Given the description of an element on the screen output the (x, y) to click on. 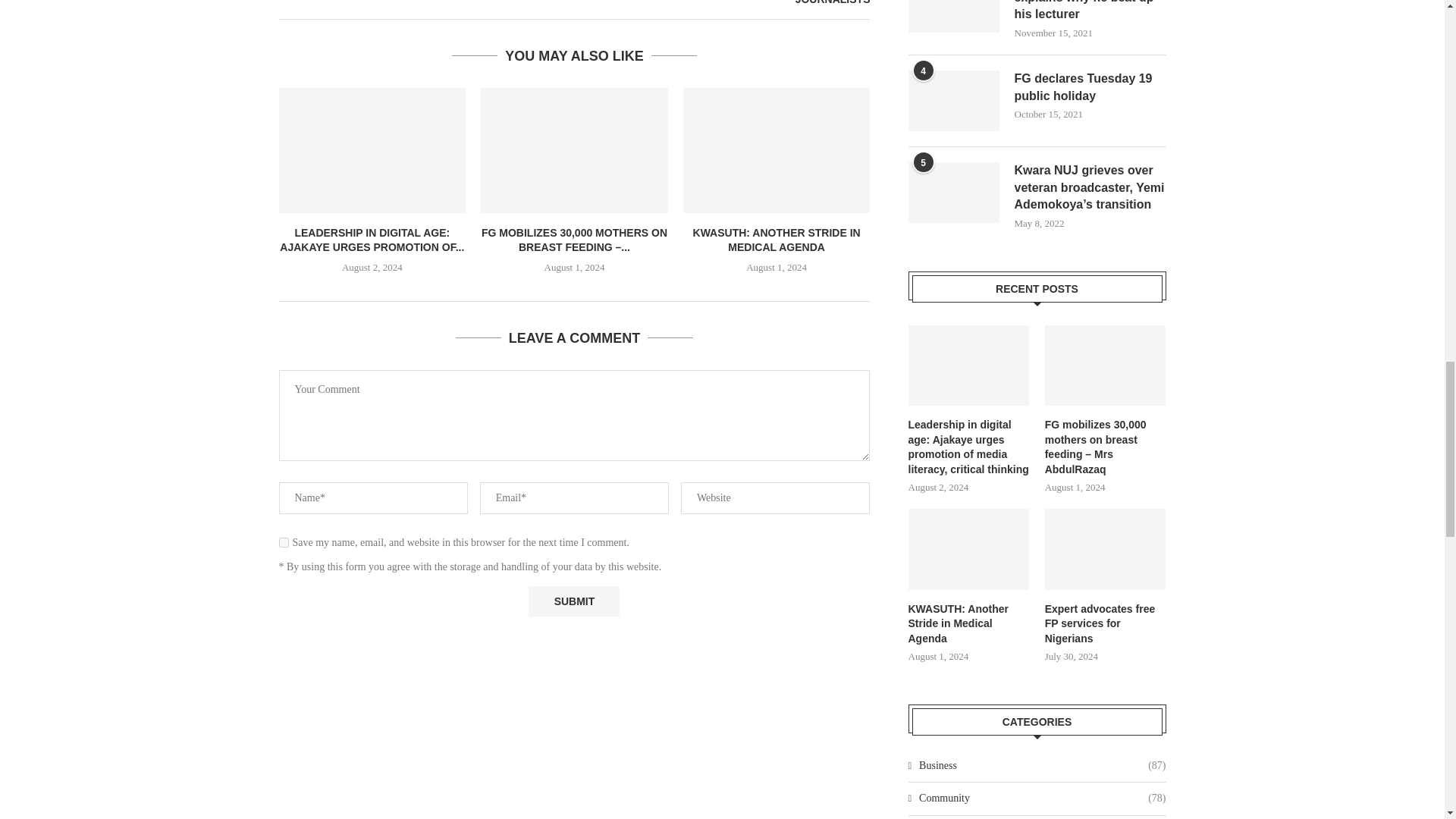
KWASUTH: Another Stride in Medical Agenda (776, 149)
yes (283, 542)
Submit (574, 601)
